Given the description of an element on the screen output the (x, y) to click on. 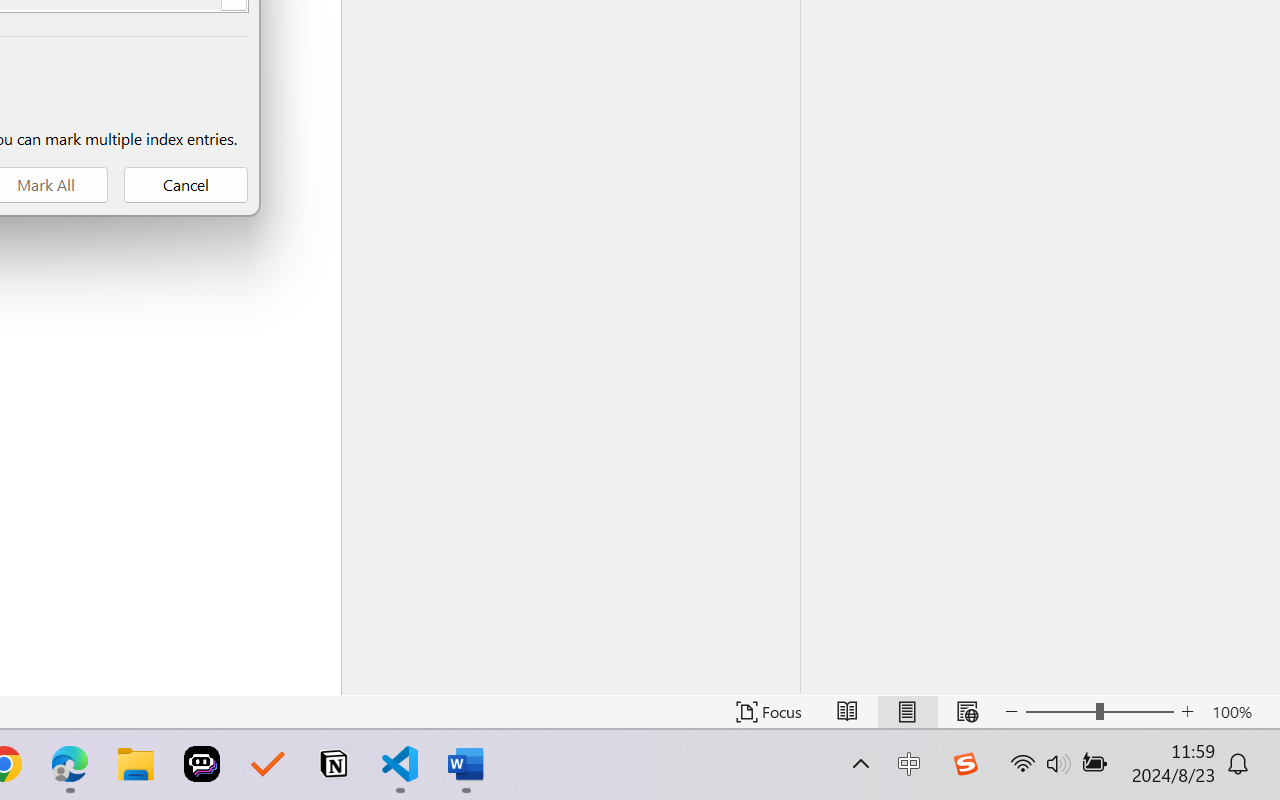
Cancel (185, 185)
